Given the description of an element on the screen output the (x, y) to click on. 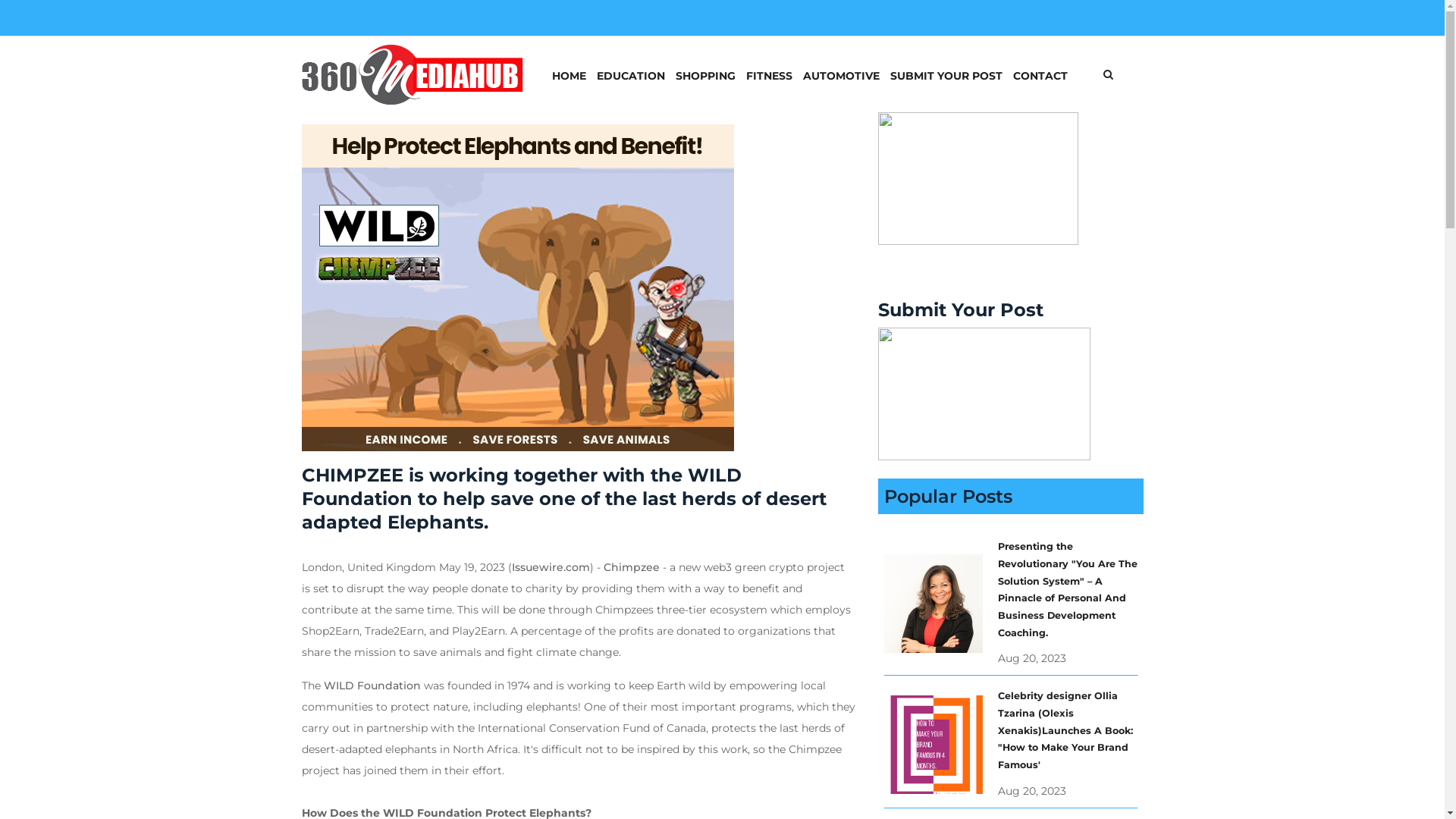
WILD Foundation Element type: text (371, 685)
FITNESS Element type: text (768, 73)
HOME Element type: text (568, 73)
Issuewire.com Element type: text (550, 567)
SHOPPING Element type: text (705, 73)
SUBMIT YOUR POST Element type: text (945, 73)
AUTOMOTIVE Element type: text (840, 73)
EDUCATION Element type: text (630, 73)
CONTACT Element type: text (1039, 73)
Chimpzee Element type: text (631, 567)
